Given the description of an element on the screen output the (x, y) to click on. 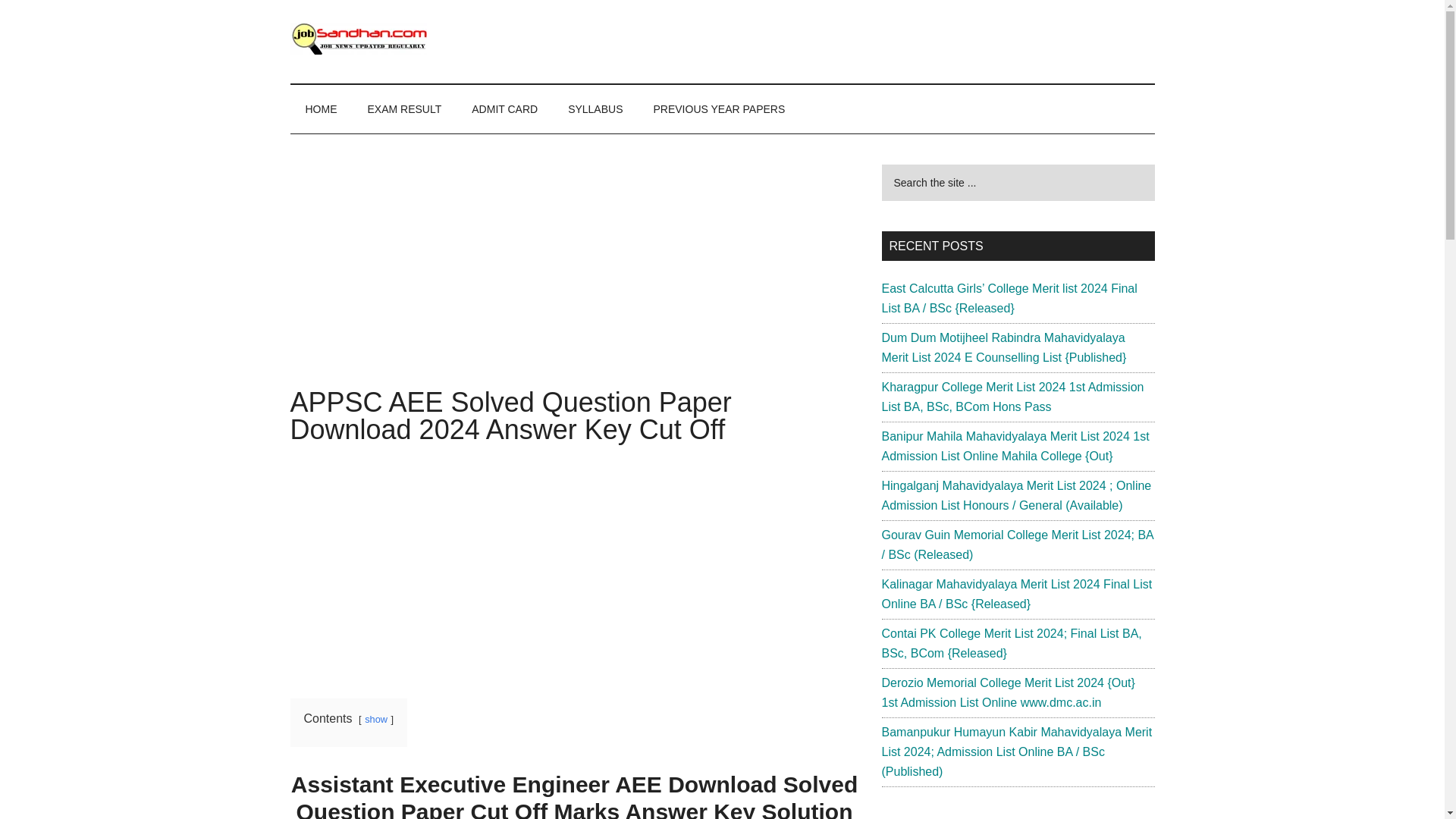
show (376, 718)
ADMIT CARD (505, 109)
HOME (320, 109)
Advertisement (574, 567)
Advertisement (574, 276)
EXAM RESULT (404, 109)
PREVIOUS YEAR PAPERS (719, 109)
SYLLABUS (595, 109)
